Given the description of an element on the screen output the (x, y) to click on. 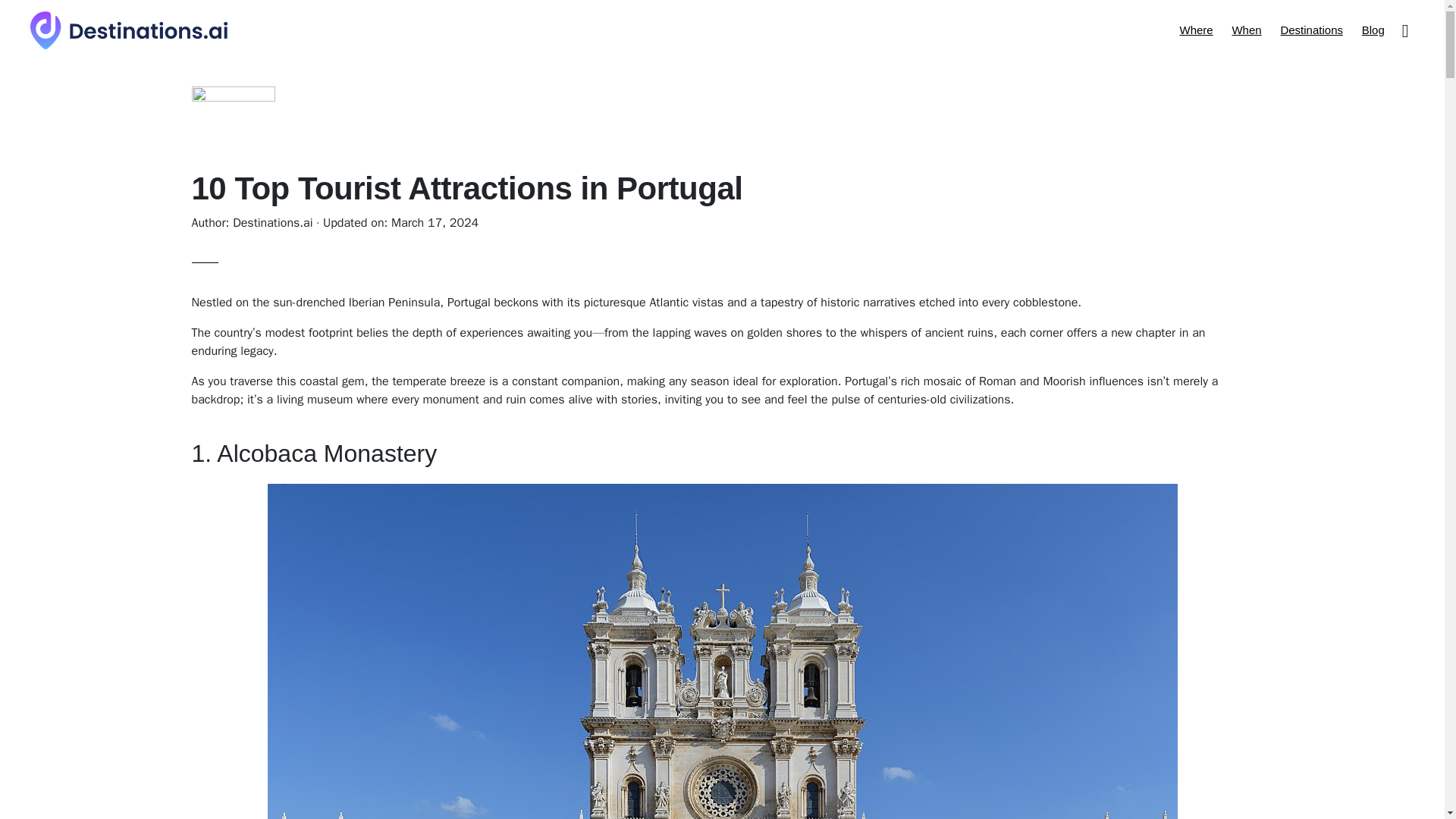
When (1246, 29)
Destinations (1311, 29)
Where (1196, 29)
Blog (1372, 29)
